Given the description of an element on the screen output the (x, y) to click on. 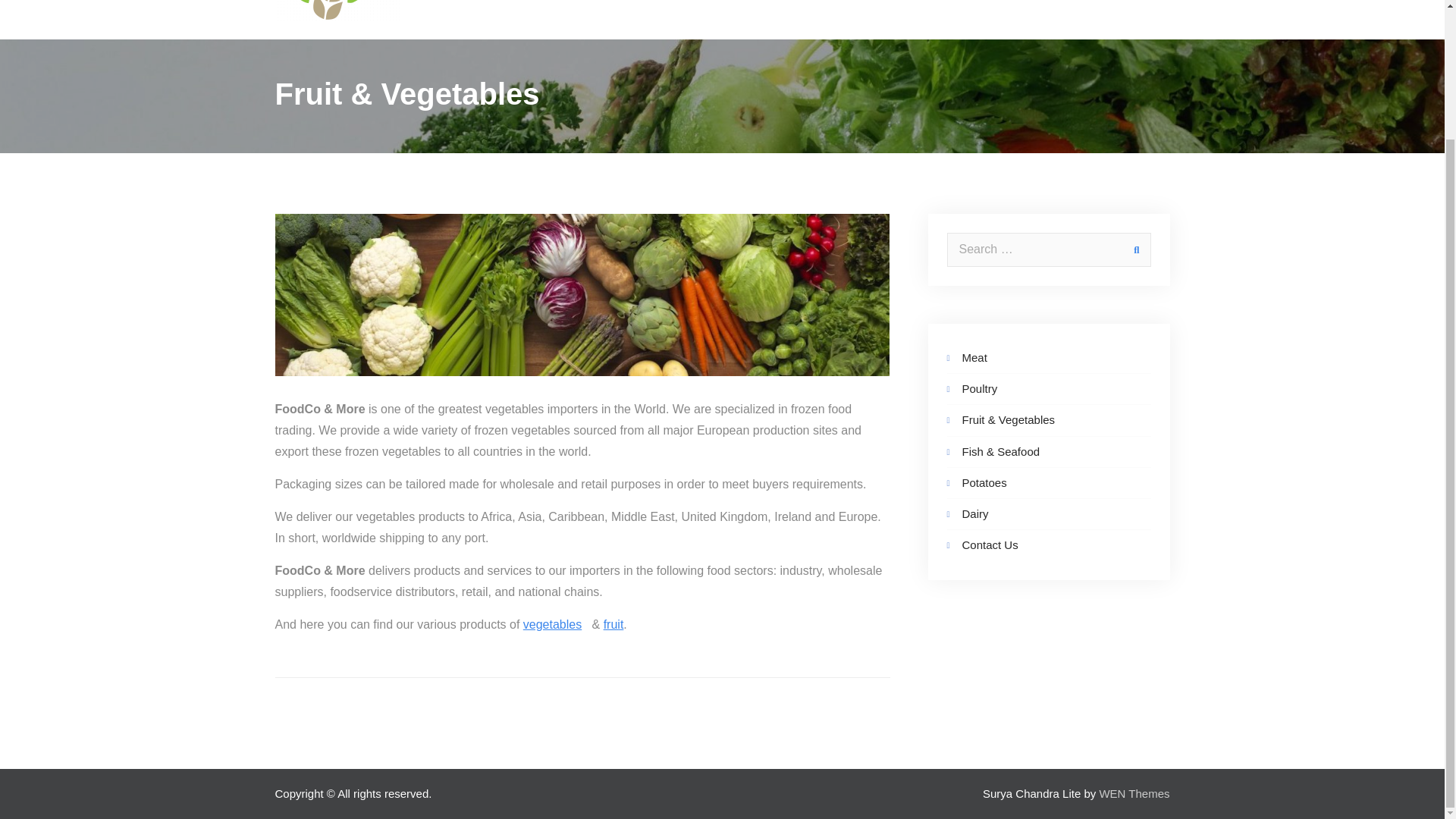
vegetables (551, 624)
fruit (614, 624)
